Given the description of an element on the screen output the (x, y) to click on. 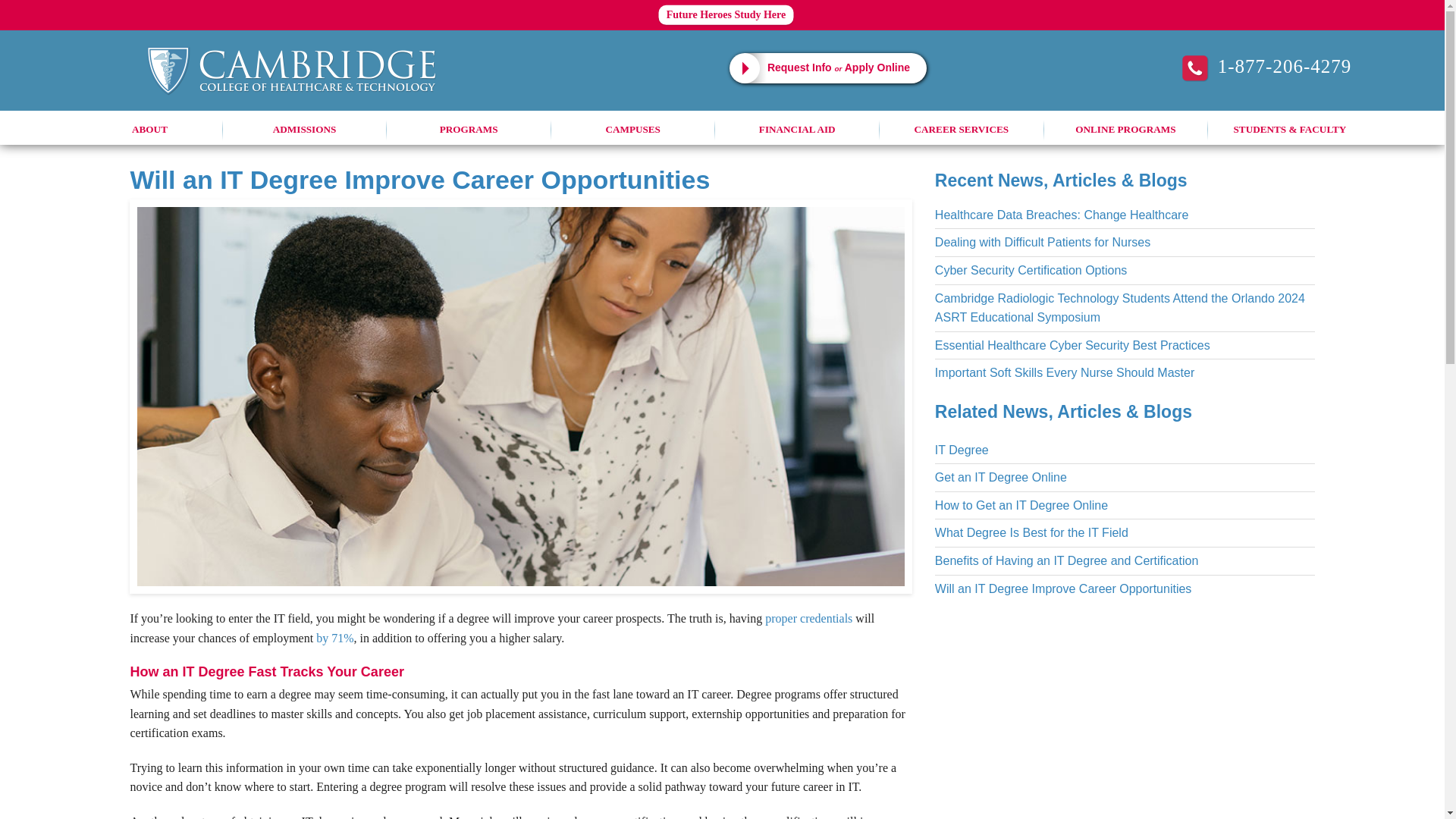
PROGRAMS (468, 128)
Important Soft Skills Every Nurse Should Master (1063, 372)
Dealing with Difficult Patients for Nurses (1042, 241)
ADMISSIONS (304, 128)
Request Info or Apply Online (827, 68)
ABOUT (149, 128)
Cyber Security Certification Options (1030, 269)
Future Heroes Study Here (726, 14)
Healthcare Data Breaches: Change Healthcare (1061, 214)
Request Info or Apply Online (827, 68)
Essential Healthcare Cyber Security Best Practices (1071, 345)
1-877-206-4279 (1267, 66)
